Given the description of an element on the screen output the (x, y) to click on. 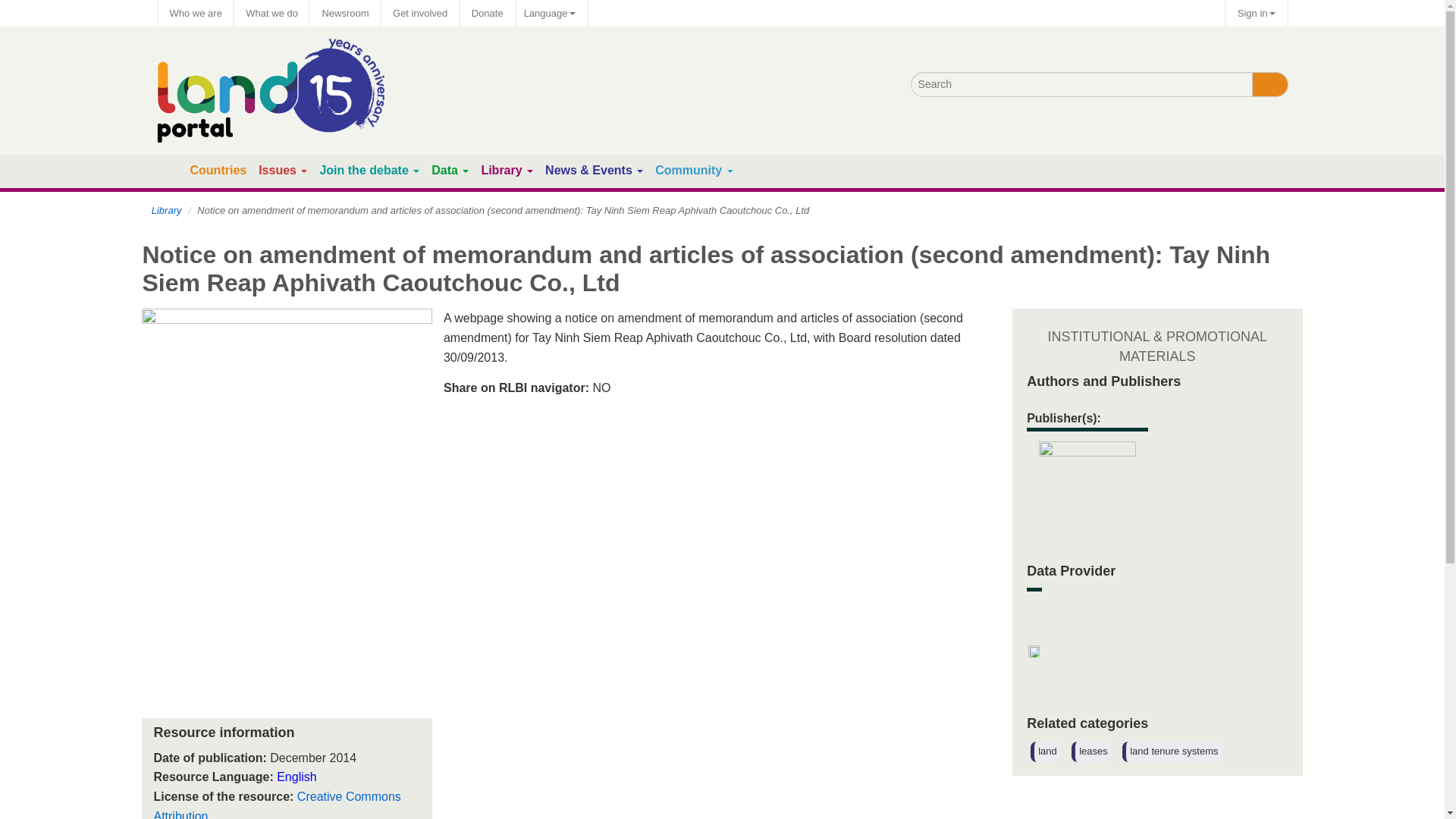
Land governance issues in context (278, 169)
What we do (271, 13)
Search (1268, 84)
Join the Debate (362, 169)
Newsroom (345, 13)
Who we are (194, 13)
Issues (278, 169)
Join the debate (362, 169)
Who we are (194, 13)
Home (169, 171)
Sign in (1256, 13)
Search (1268, 84)
Countries (217, 169)
Land governance by country (217, 169)
